Given the description of an element on the screen output the (x, y) to click on. 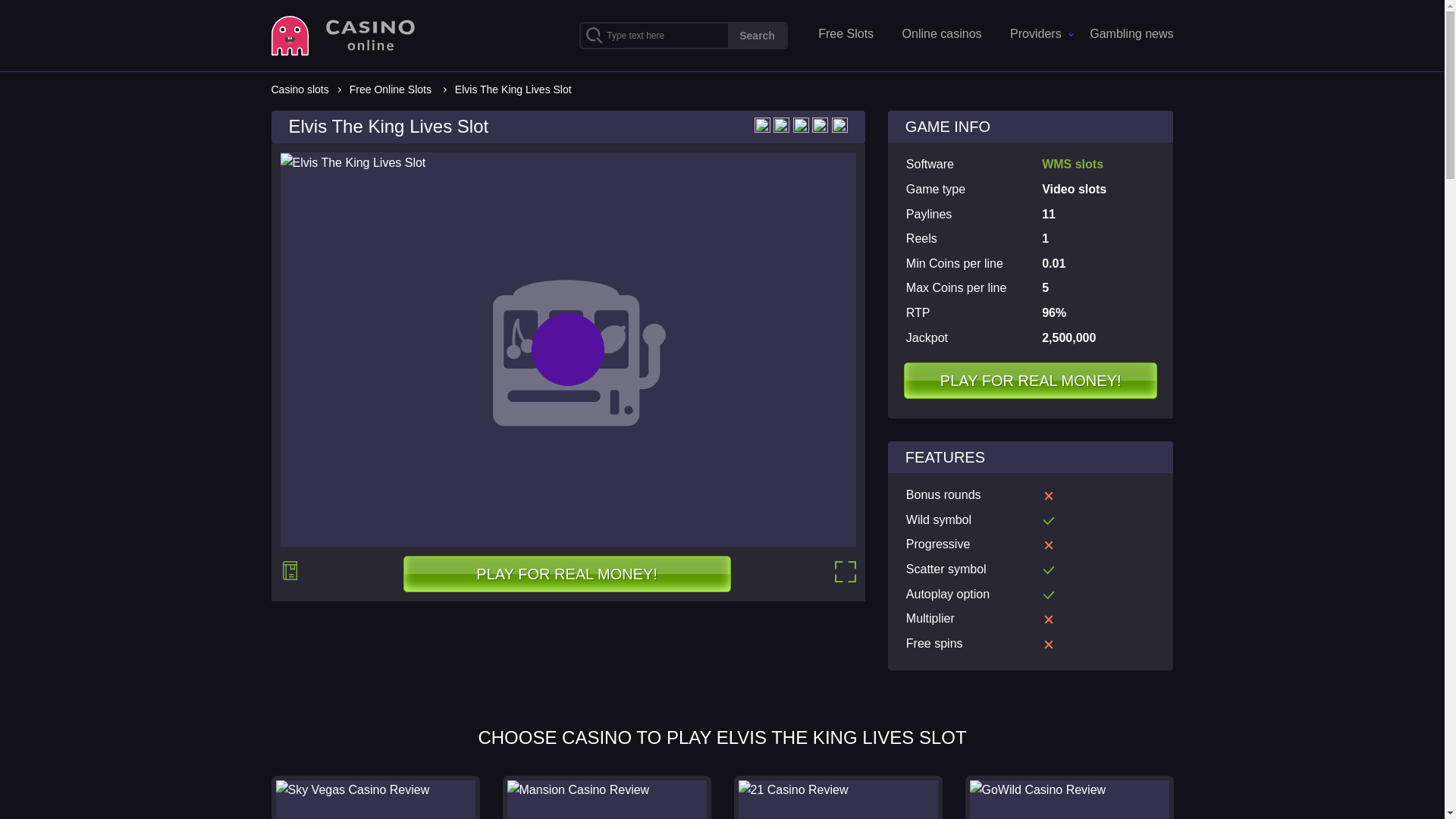
Search (757, 35)
Search (757, 35)
Free Online Slots (389, 89)
Casino slots (299, 89)
Fullscreen (845, 571)
Online casinos (941, 33)
Gambling news (1131, 33)
Search (757, 35)
WMS slots (1072, 164)
Free Slots (845, 33)
Providers (1035, 33)
